Given the description of an element on the screen output the (x, y) to click on. 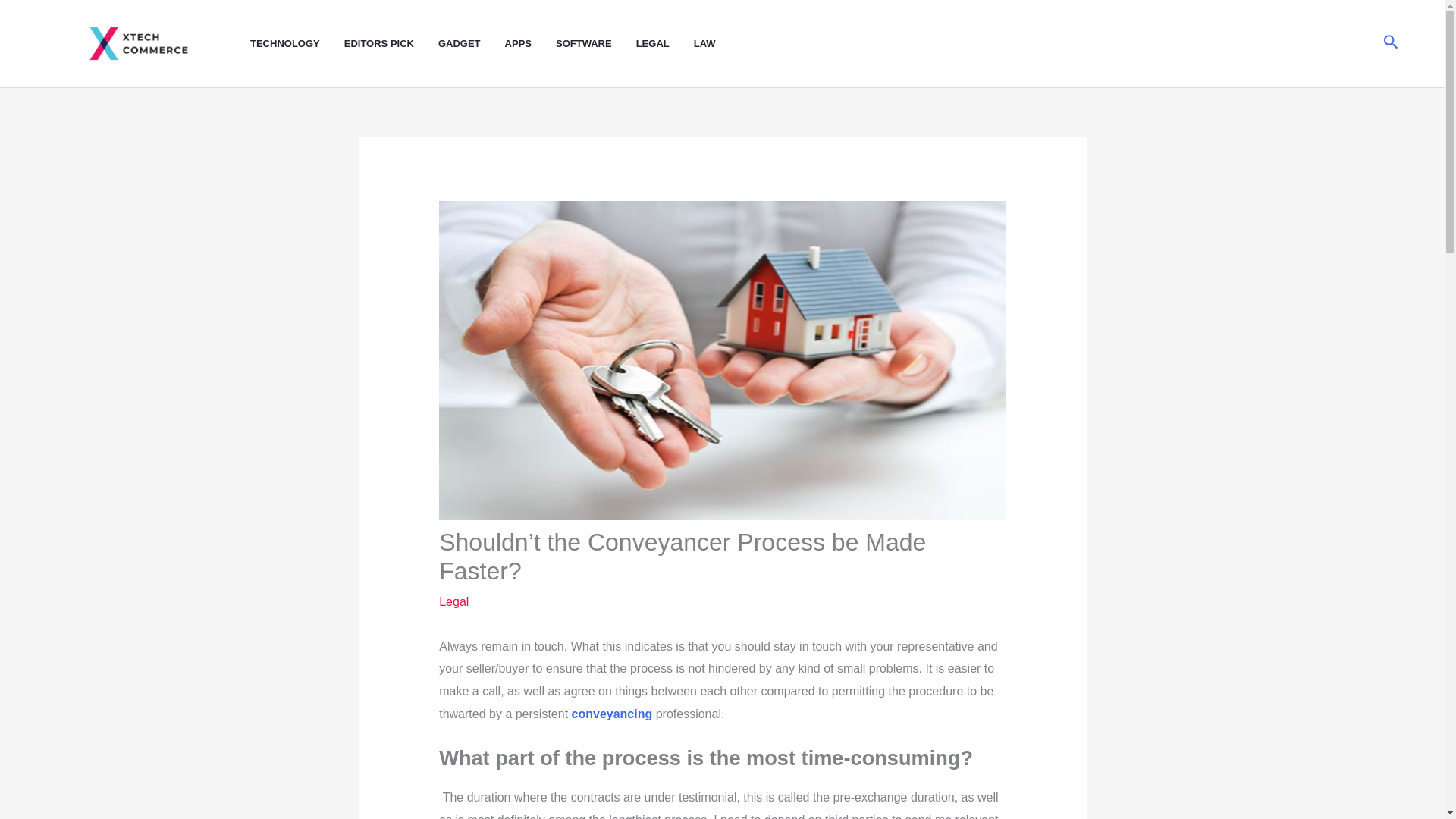
EDITORS PICK (390, 43)
Legal (453, 601)
SOFTWARE (596, 43)
conveyancing (612, 713)
TECHNOLOGY (296, 43)
